Given the description of an element on the screen output the (x, y) to click on. 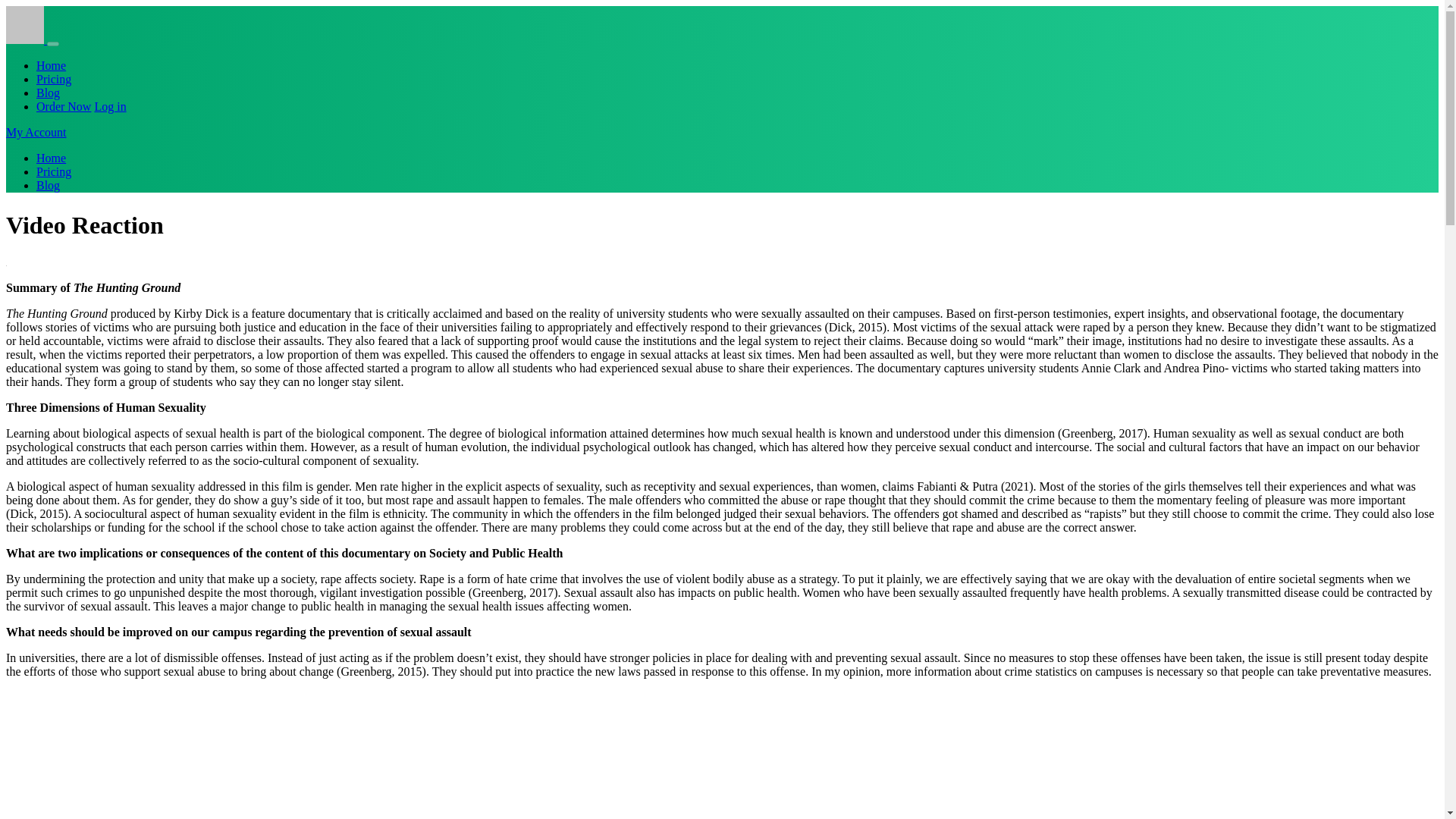
Blog (47, 92)
Blog (47, 92)
Home (50, 65)
My Account (35, 132)
Home (50, 157)
Pricing (53, 171)
Blog (47, 185)
Home (50, 65)
Log in (109, 106)
Pricing (53, 171)
